Given the description of an element on the screen output the (x, y) to click on. 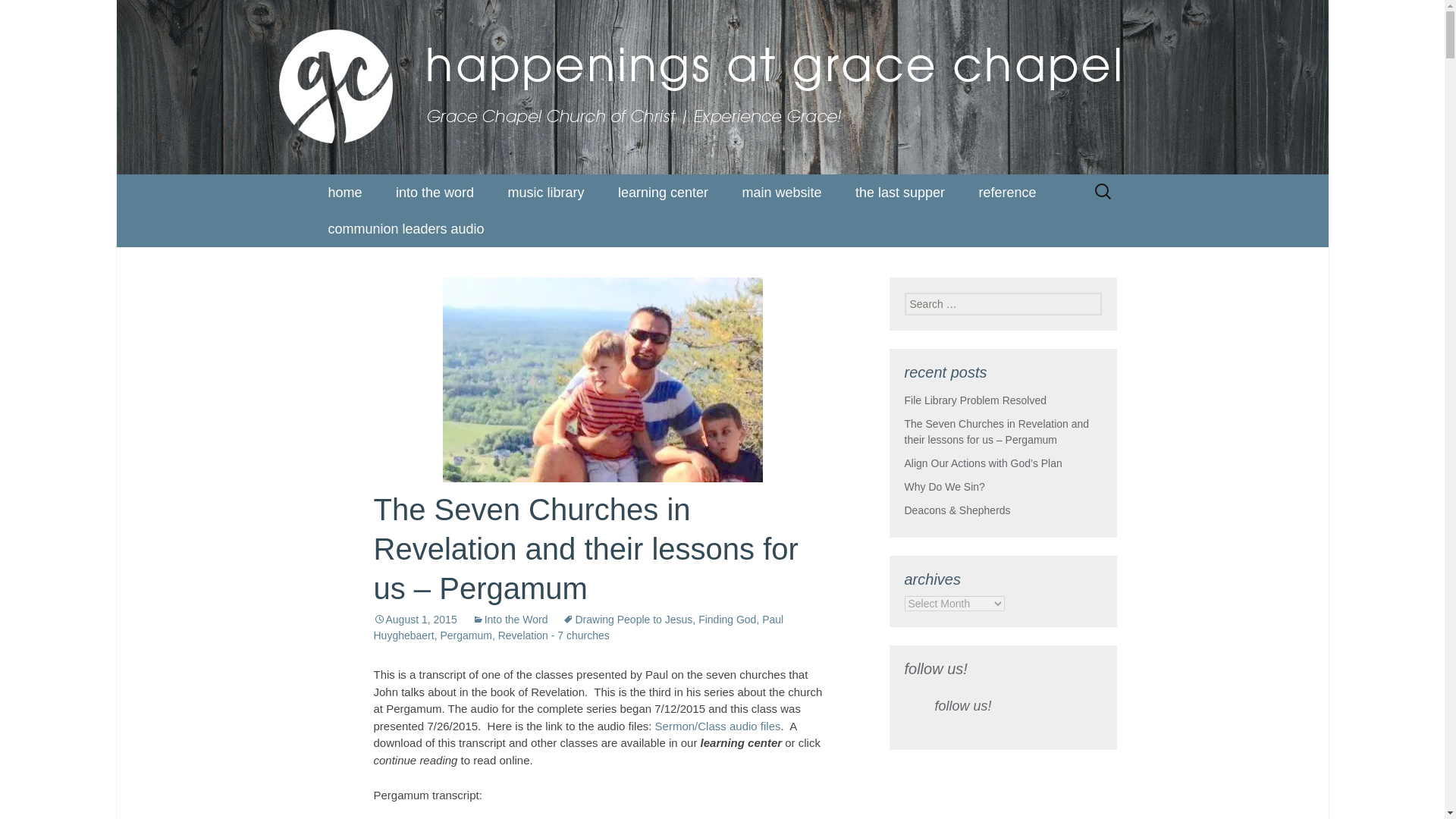
Paul Huyghebaert (577, 627)
music library (546, 192)
main website (780, 192)
August 1, 2015 (414, 619)
Finding God (726, 619)
Into the Word (509, 619)
Search (18, 15)
Drawing People to Jesus (627, 619)
communion leaders audio (406, 228)
learning center (662, 192)
reference (1007, 192)
Revelation - 7 churches (553, 635)
